Given the description of an element on the screen output the (x, y) to click on. 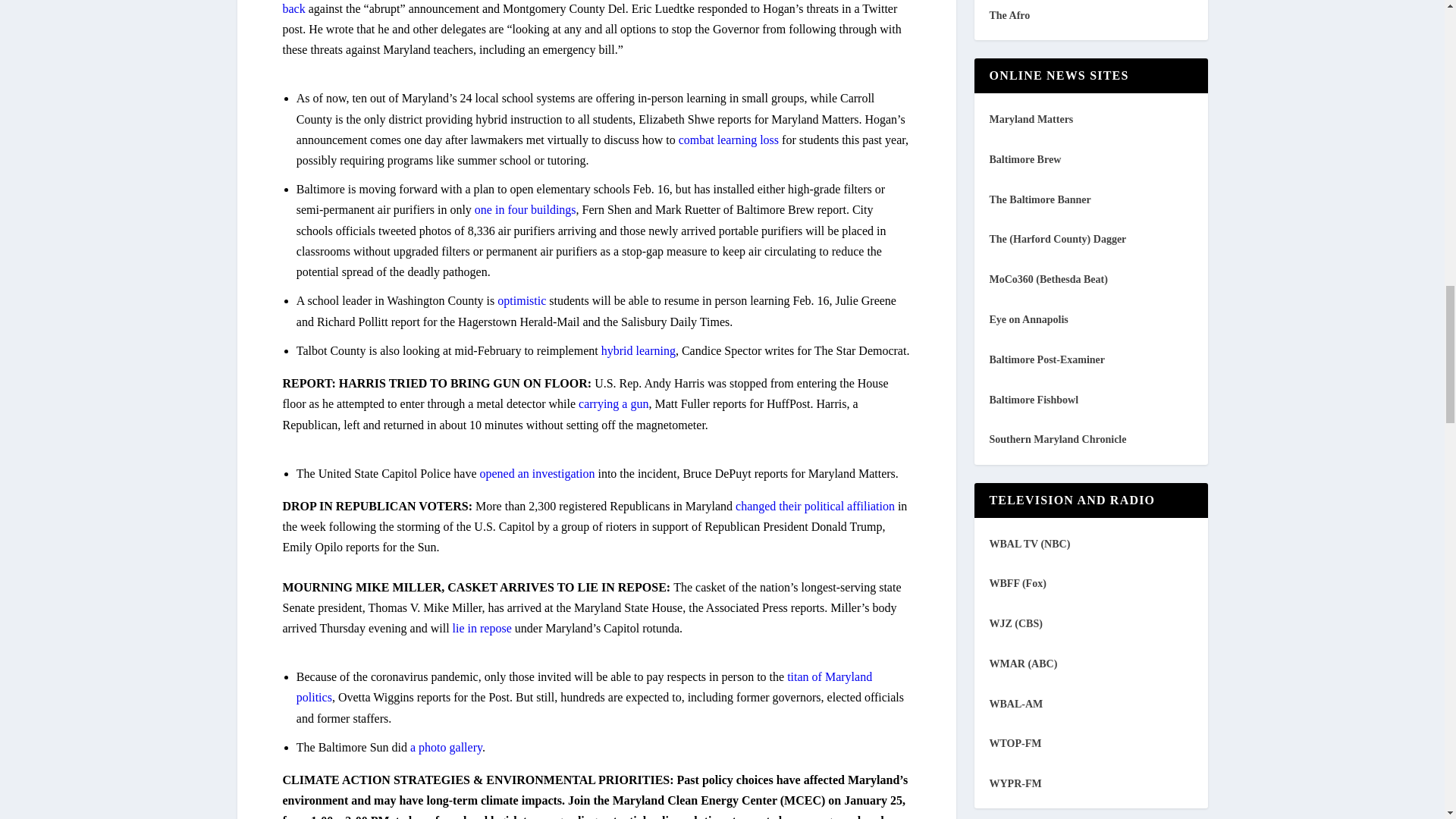
school system pushed back (587, 7)
carrying a gun (612, 403)
changed their political affiliation (816, 505)
opened an investigation (537, 472)
one in four buildings (525, 209)
a photo gallery (445, 747)
lie in repose (483, 627)
hybrid learning (638, 350)
optimistic (522, 300)
combat learning loss (729, 139)
titan of Maryland politics (584, 686)
